Given the description of an element on the screen output the (x, y) to click on. 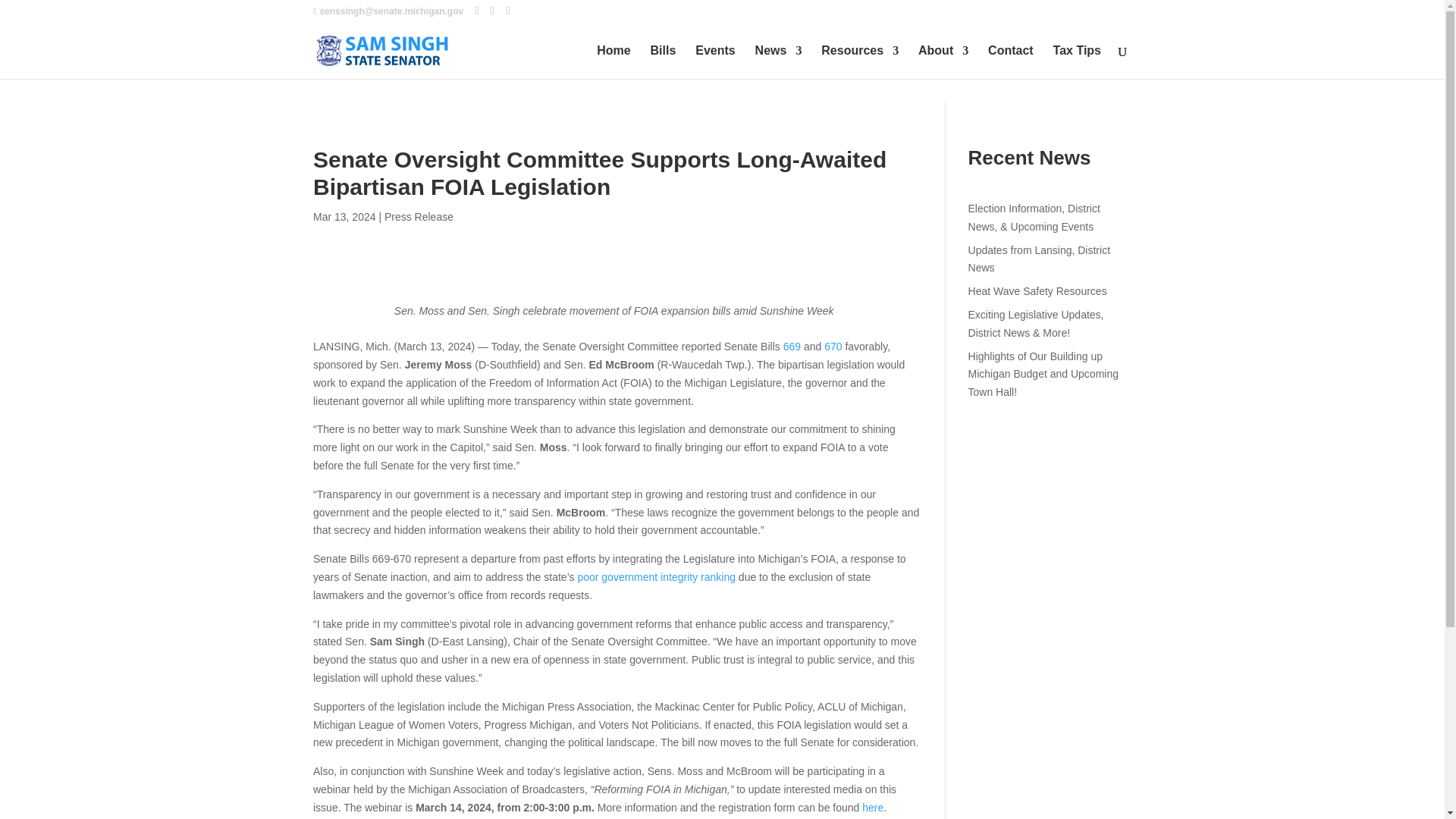
News (778, 61)
Contact (1010, 61)
Press Release (418, 216)
About (943, 61)
669 (791, 346)
Home (613, 61)
Events (715, 61)
Tax Tips (1076, 61)
Resources (859, 61)
